Given the description of an element on the screen output the (x, y) to click on. 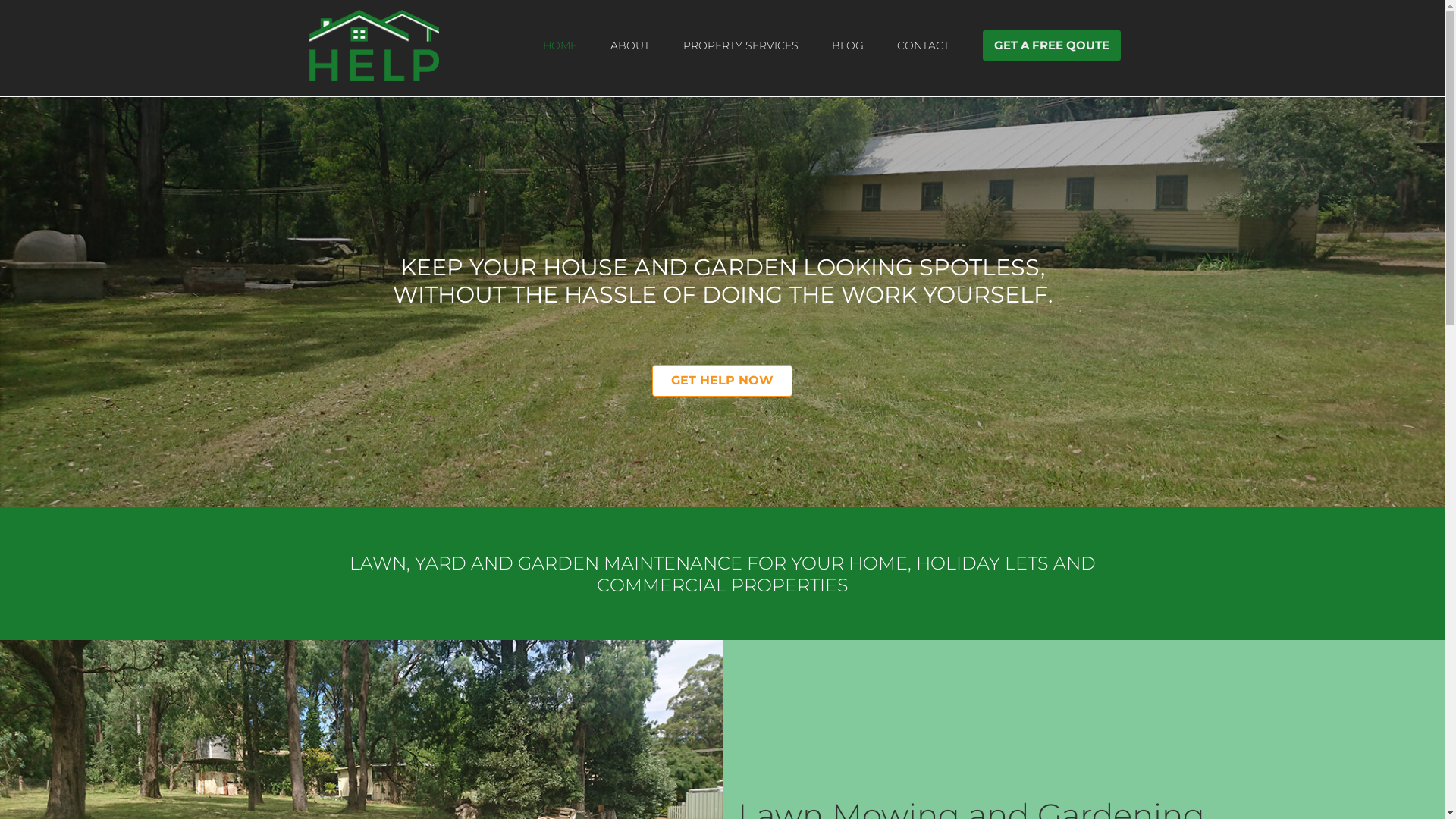
HOME Element type: text (559, 37)
GET HELP NOW Element type: text (722, 380)
Skip to main content Element type: text (0, 0)
GET A FREE QOUTE Element type: text (1051, 45)
BLOG Element type: text (846, 37)
CONTACT Element type: text (922, 37)
PROPERTY SERVICES Element type: text (739, 37)
Help Maintenance Element type: hover (374, 45)
ABOUT Element type: text (629, 37)
